Given the description of an element on the screen output the (x, y) to click on. 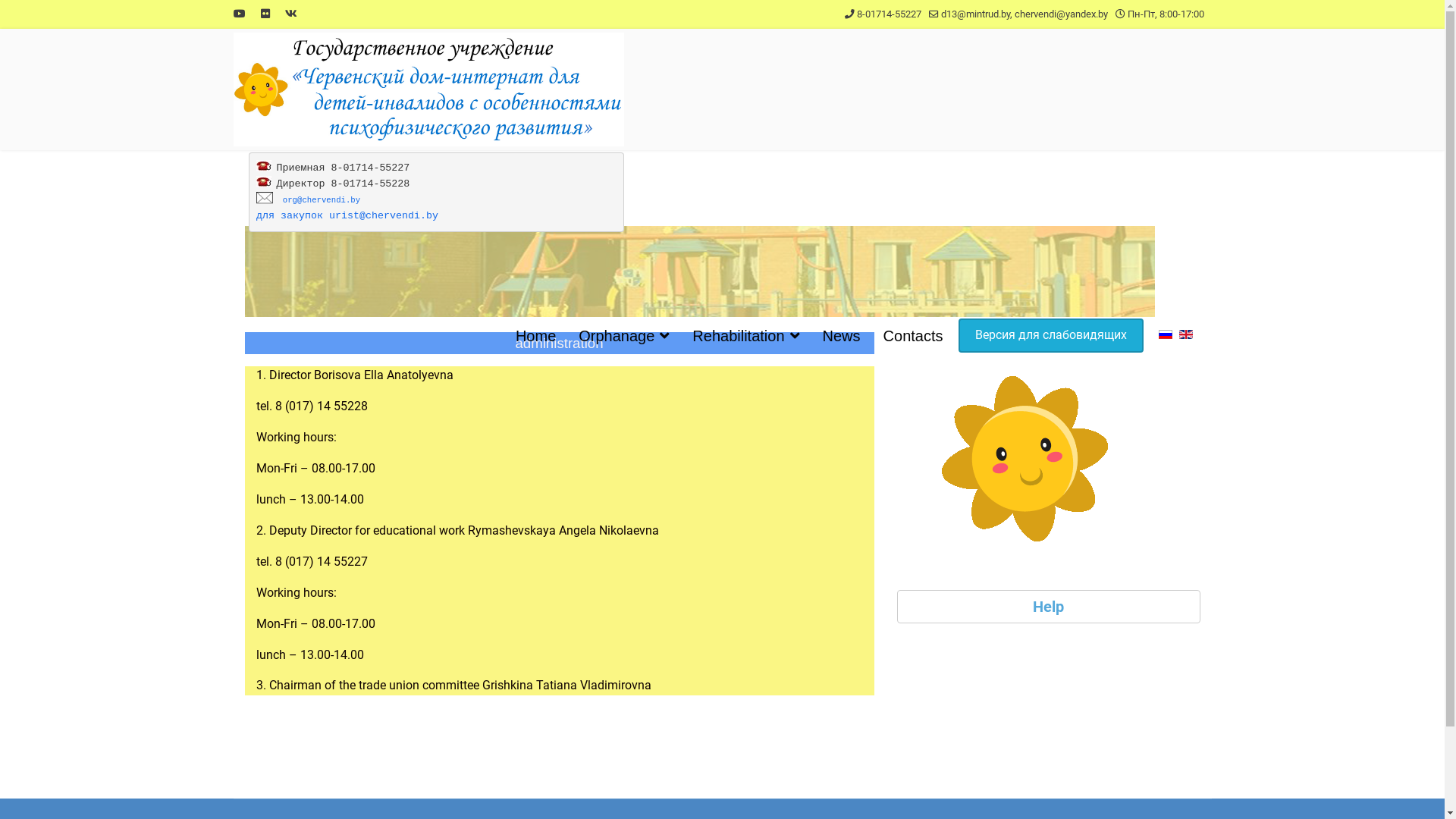
org@chervendi.by Element type: text (321, 199)
8-01714-55227 Element type: text (888, 13)
Help Element type: text (1047, 606)
English (United Kingdom) Element type: hover (1185, 333)
Contacts Element type: text (913, 335)
News Element type: text (841, 335)
d13@mintrud.by, chervendi@yandex.by Element type: text (1023, 13)
Home Element type: text (535, 335)
